Given the description of an element on the screen output the (x, y) to click on. 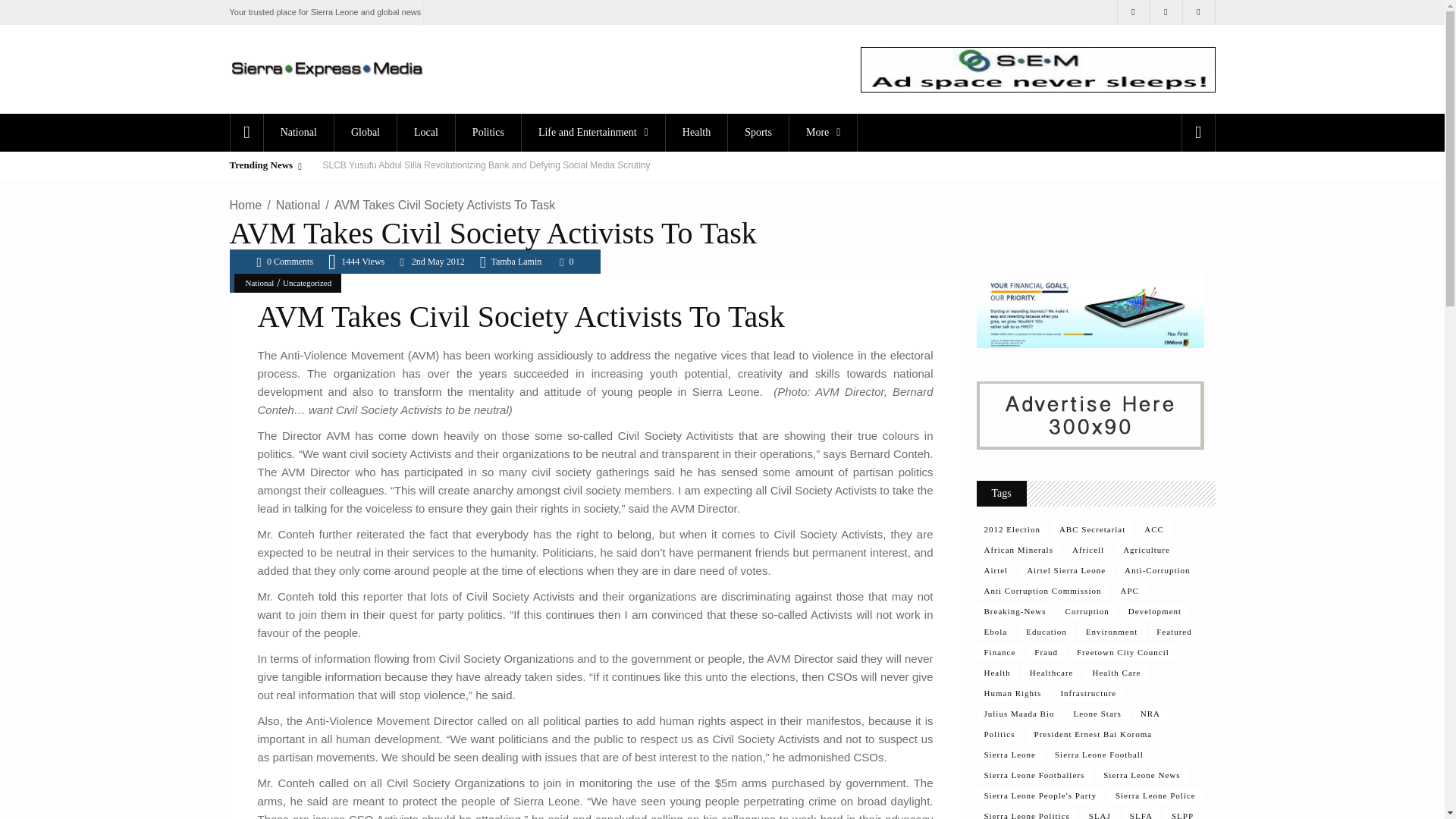
Life and Entertainment (593, 132)
National (298, 132)
Global (364, 132)
Politics (487, 132)
Local (425, 132)
